Given the description of an element on the screen output the (x, y) to click on. 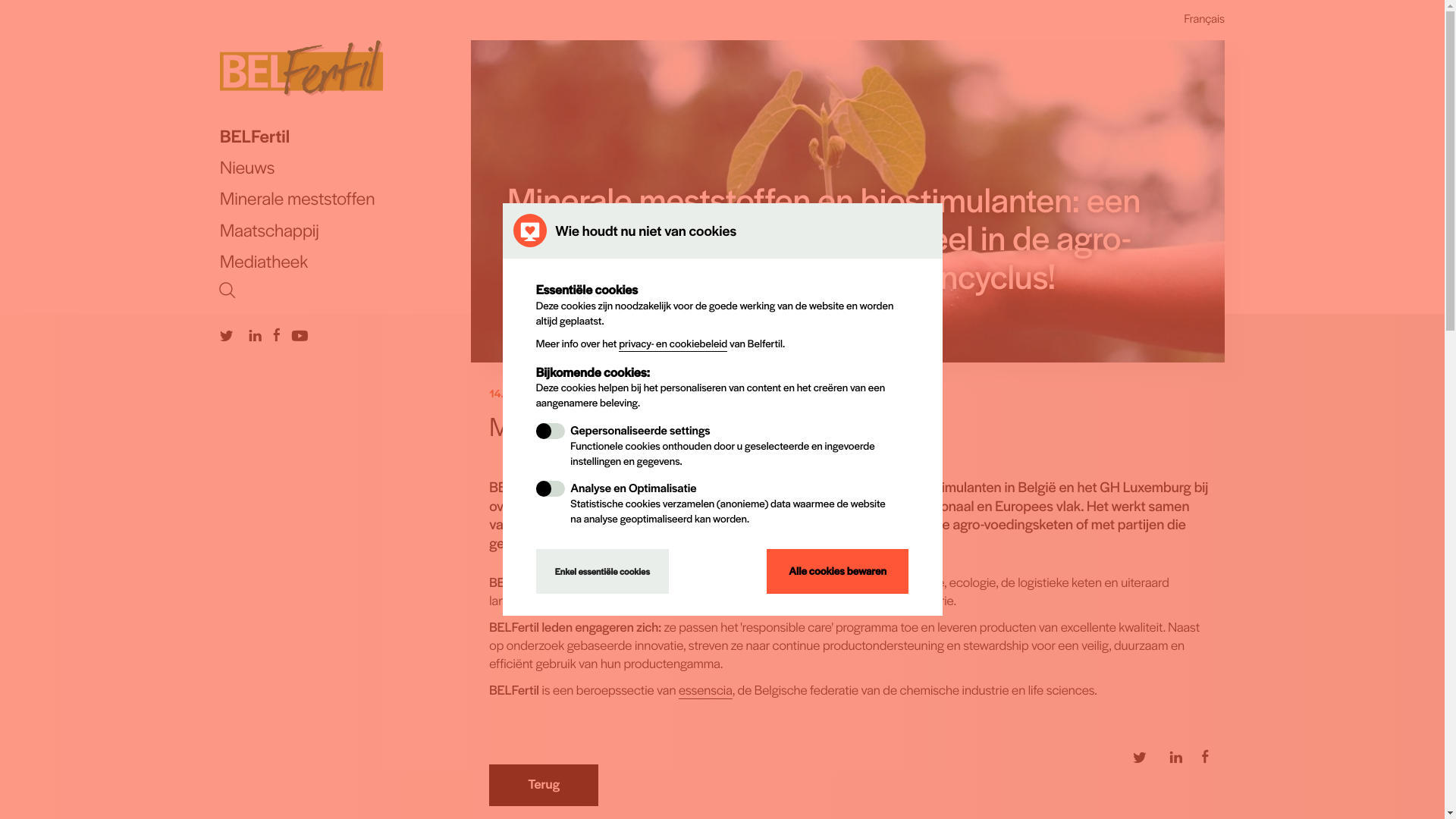
Maatschappij Element type: text (344, 229)
essenscia Element type: text (705, 689)
Terug Element type: text (543, 785)
BELFertil Element type: text (344, 135)
Nieuws Element type: text (344, 166)
privacy- en cookiebeleid Element type: text (672, 343)
Alle cookies bewaren Element type: text (837, 571)
Minerale meststoffen Element type: text (344, 197)
Mediatheek Element type: text (344, 260)
